Given the description of an element on the screen output the (x, y) to click on. 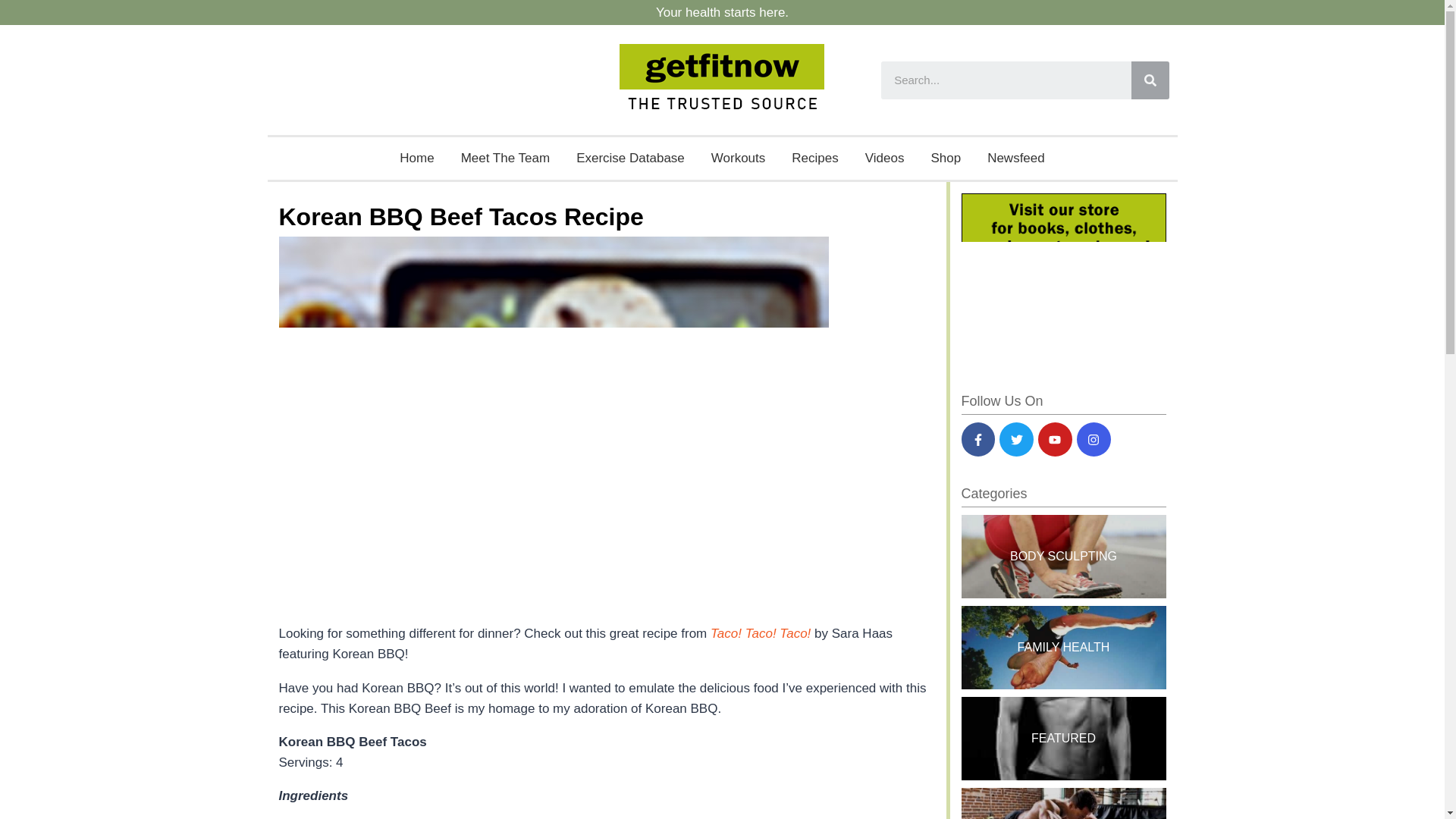
Recipes (814, 157)
Search (1005, 80)
Shop (945, 157)
Search (1150, 80)
Home (416, 157)
Taco! Taco! Taco! (760, 633)
Newsfeed (1016, 157)
Exercise Database (629, 157)
Meet The Team (505, 157)
Workouts (738, 157)
Videos (884, 157)
